Given the description of an element on the screen output the (x, y) to click on. 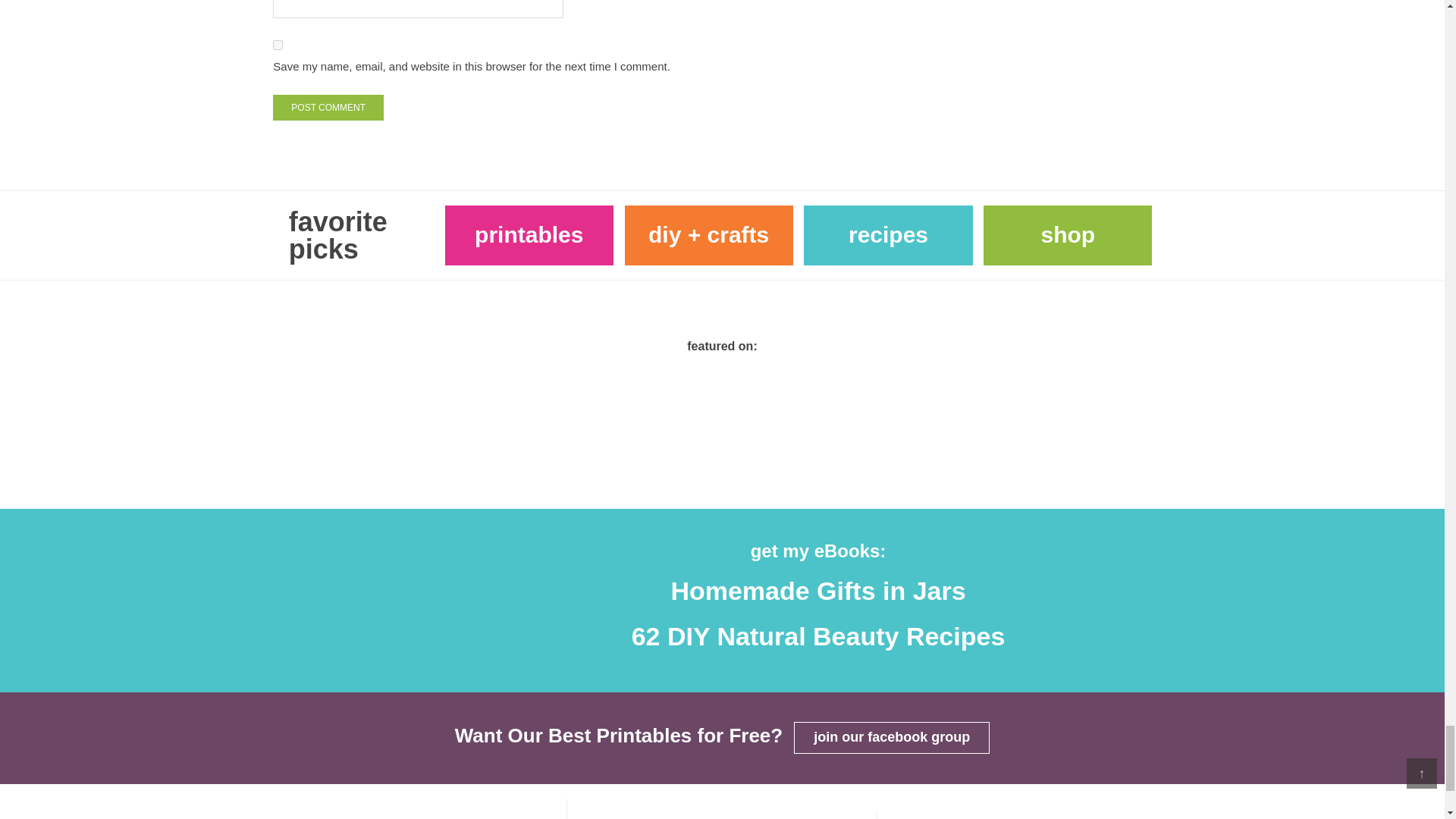
Post Comment (328, 107)
yes (277, 44)
